Given the description of an element on the screen output the (x, y) to click on. 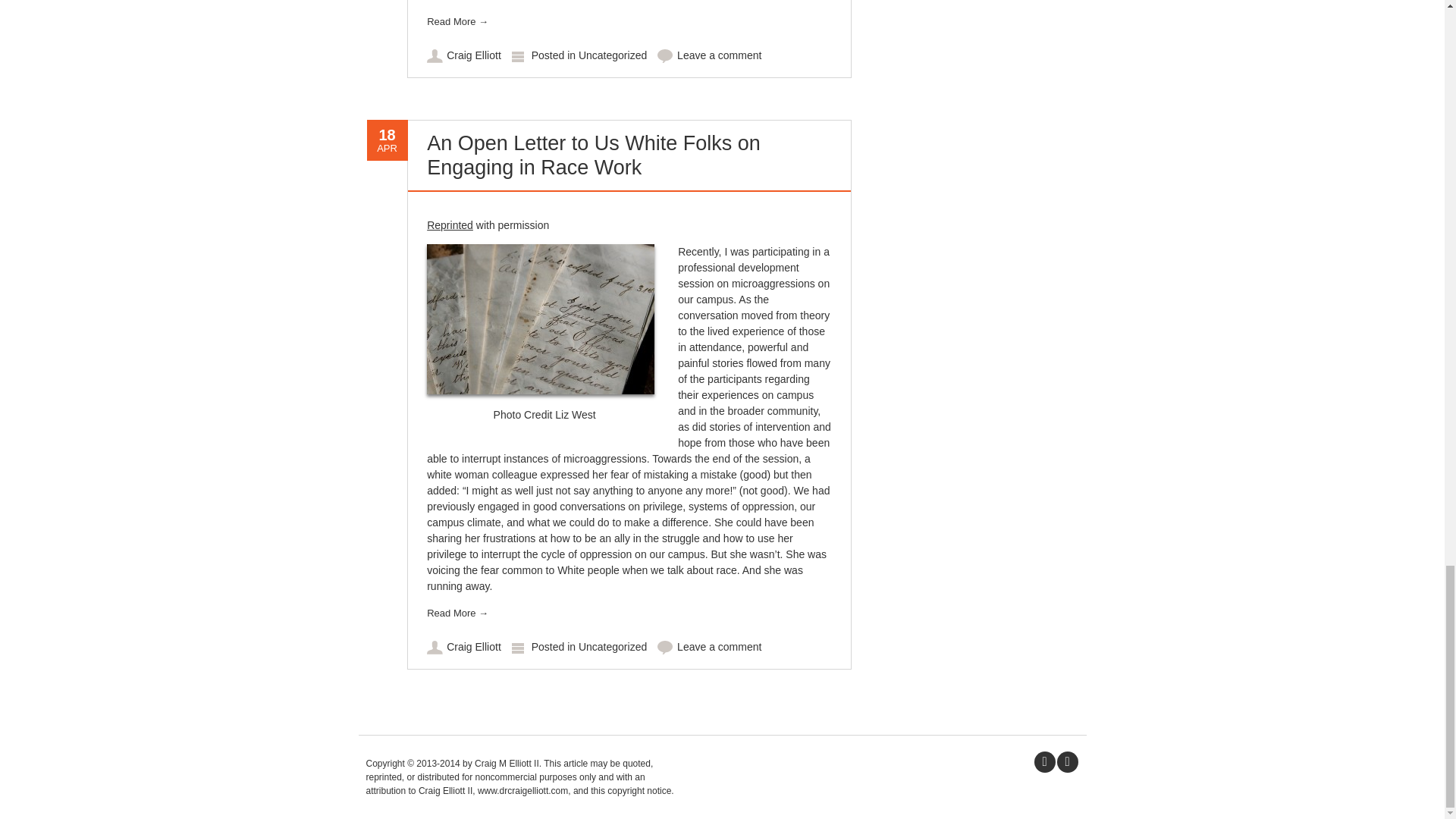
twitter (1043, 762)
Uncategorized (612, 646)
linkedin (1066, 762)
Leave a comment (719, 646)
Uncategorized (612, 55)
An Open Letter to Us White Folks on Engaging in Race Work (593, 155)
Leave a comment (719, 55)
Craig Elliott (473, 55)
Reprinted (449, 224)
